Given the description of an element on the screen output the (x, y) to click on. 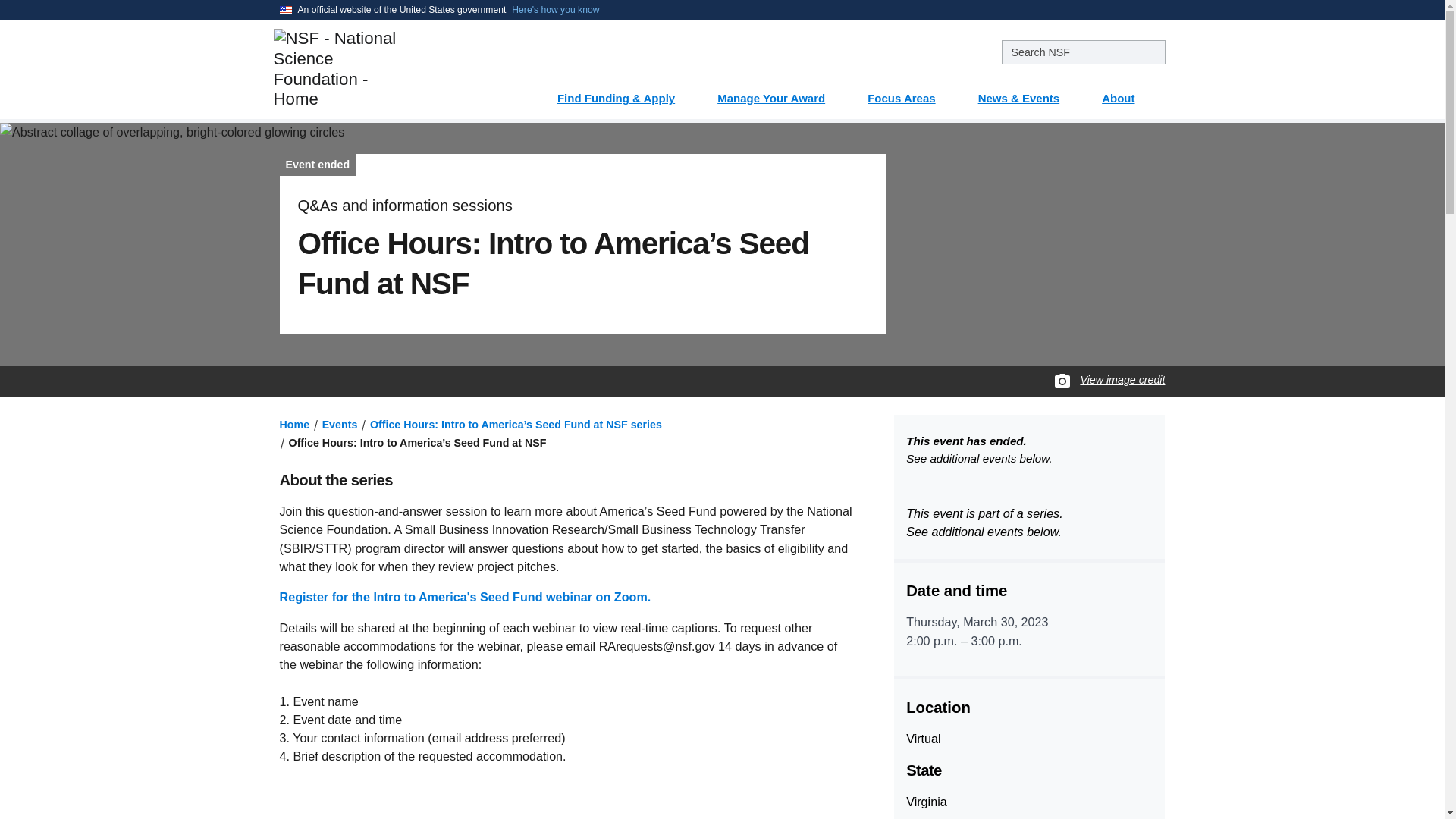
Events (339, 424)
Manage Your Award (780, 92)
View image credit (1122, 380)
search (1082, 52)
Here's how you know (555, 9)
NSF - National Science Foundation - Home (385, 68)
Home (293, 424)
About (1126, 92)
Focus Areas (910, 92)
